Given the description of an element on the screen output the (x, y) to click on. 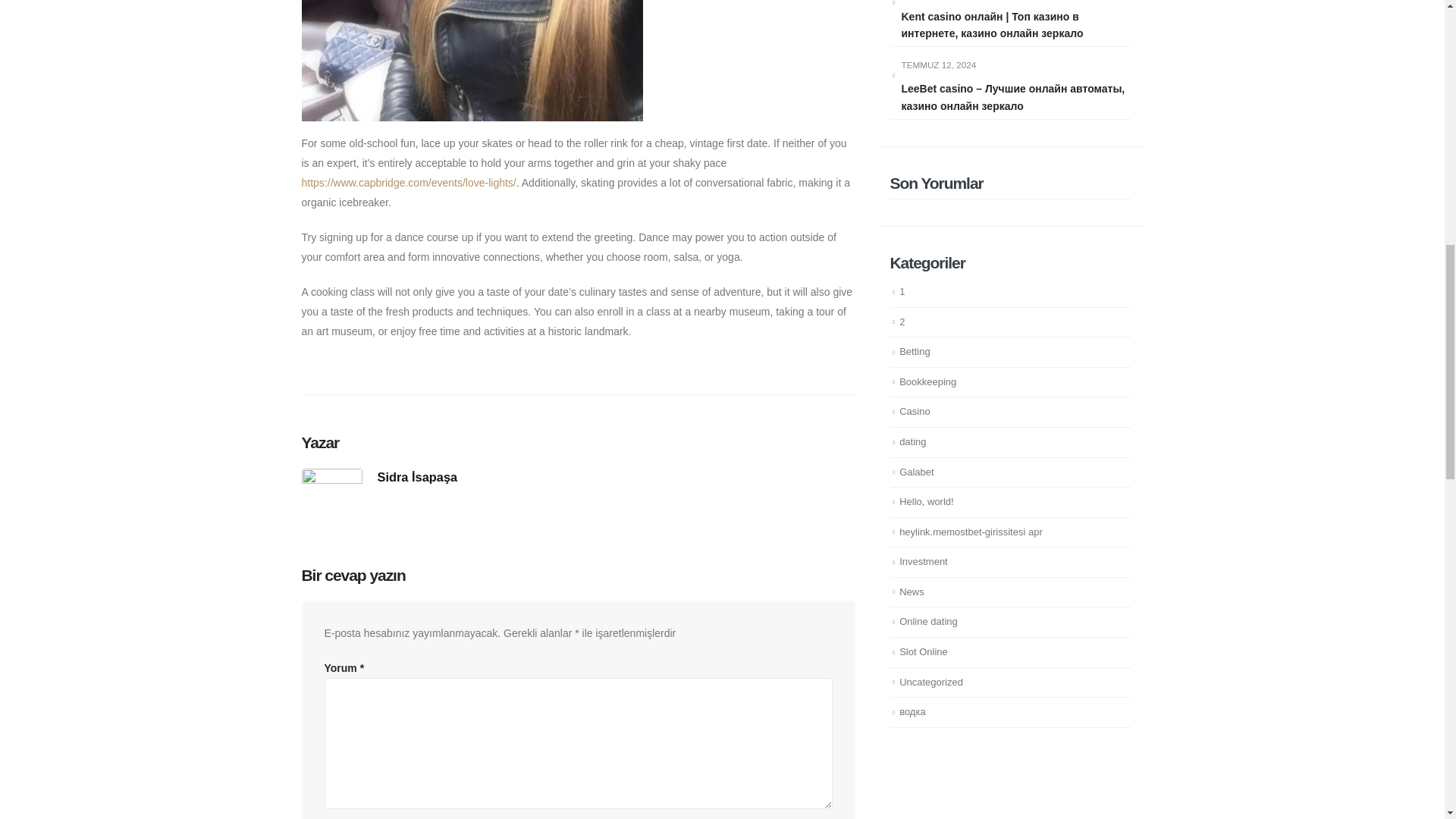
Casino (914, 410)
Bookkeeping (927, 381)
dating (912, 441)
Betting (914, 351)
